Given the description of an element on the screen output the (x, y) to click on. 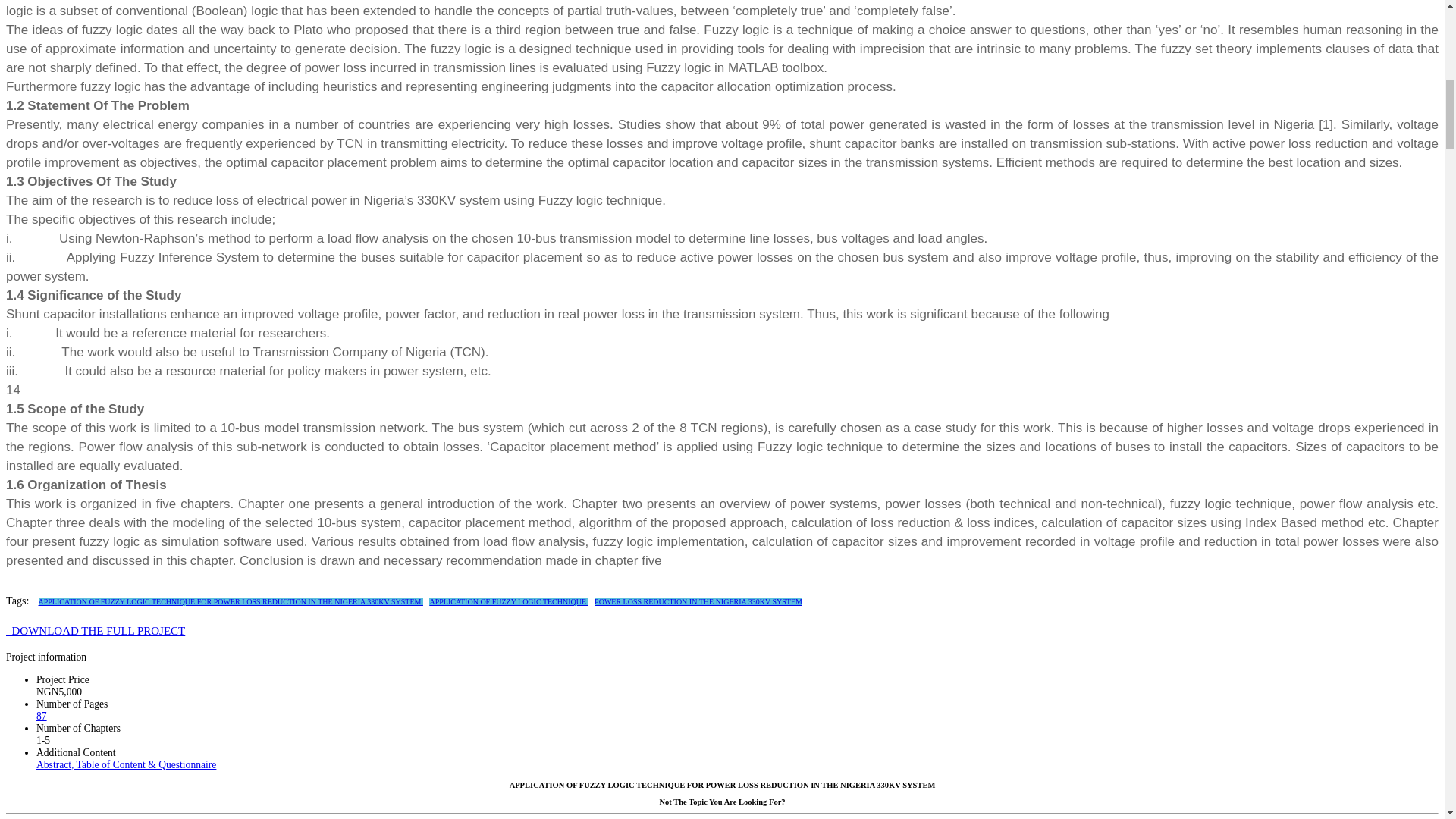
  DOWNLOAD THE FULL PROJECT (94, 630)
POWER LOSS REDUCTION IN THE NIGERIA 330KV SYSTEM (698, 601)
APPLICATION OF FUZZY LOGIC TECHNIQUE (508, 601)
87 (41, 715)
